Given the description of an element on the screen output the (x, y) to click on. 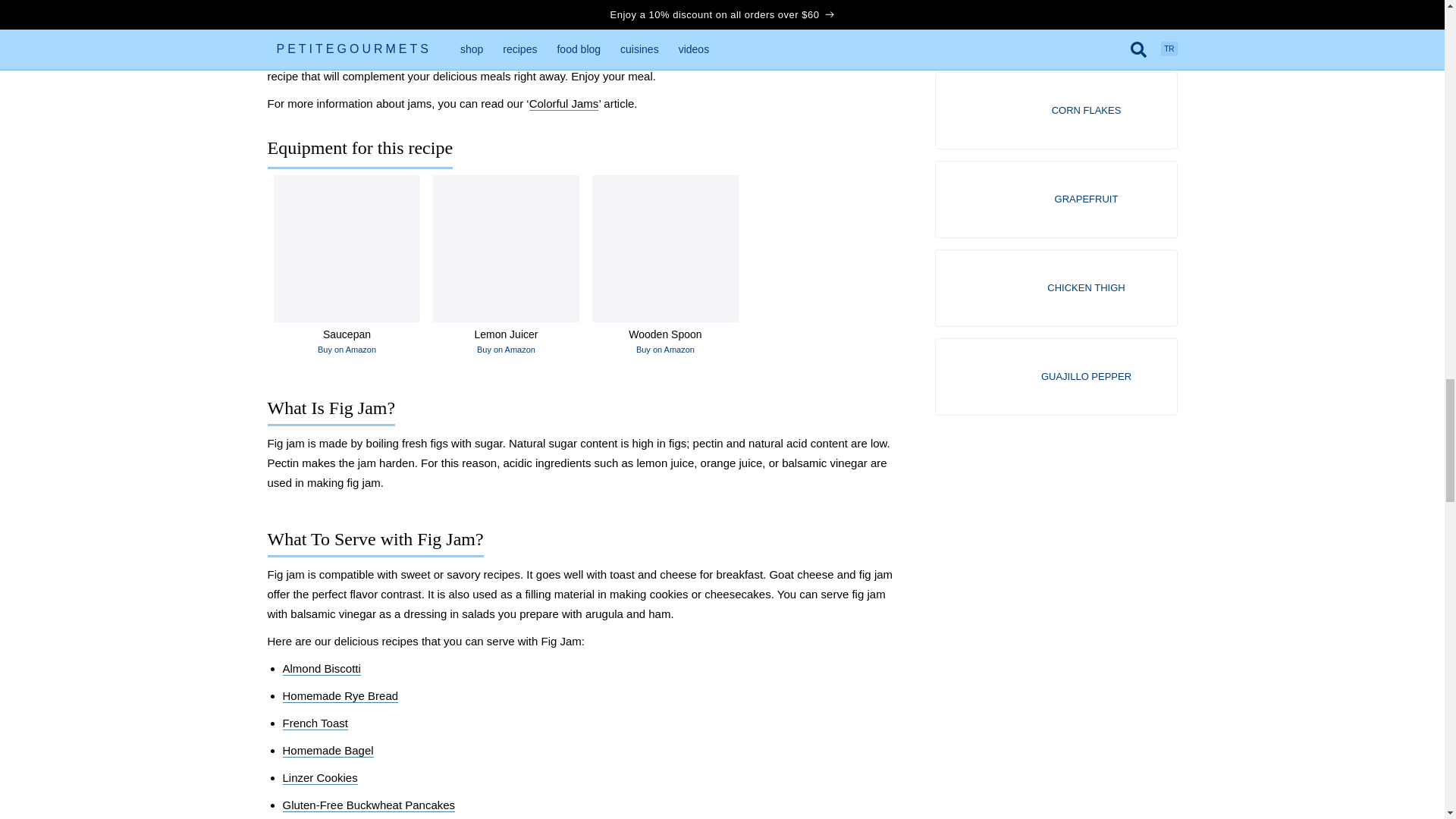
Buy on Amazon (665, 348)
Almond Biscotti (320, 668)
breakfast (712, 9)
Homemade Bagel (327, 750)
French Toast (314, 723)
Colorful Jams (563, 103)
Linzer Cookies (319, 777)
Buy on Amazon (506, 348)
Homemade Rye Bread (339, 695)
Gluten-Free Buckwheat Pancakes (368, 805)
Buy on Amazon (346, 348)
